Given the description of an element on the screen output the (x, y) to click on. 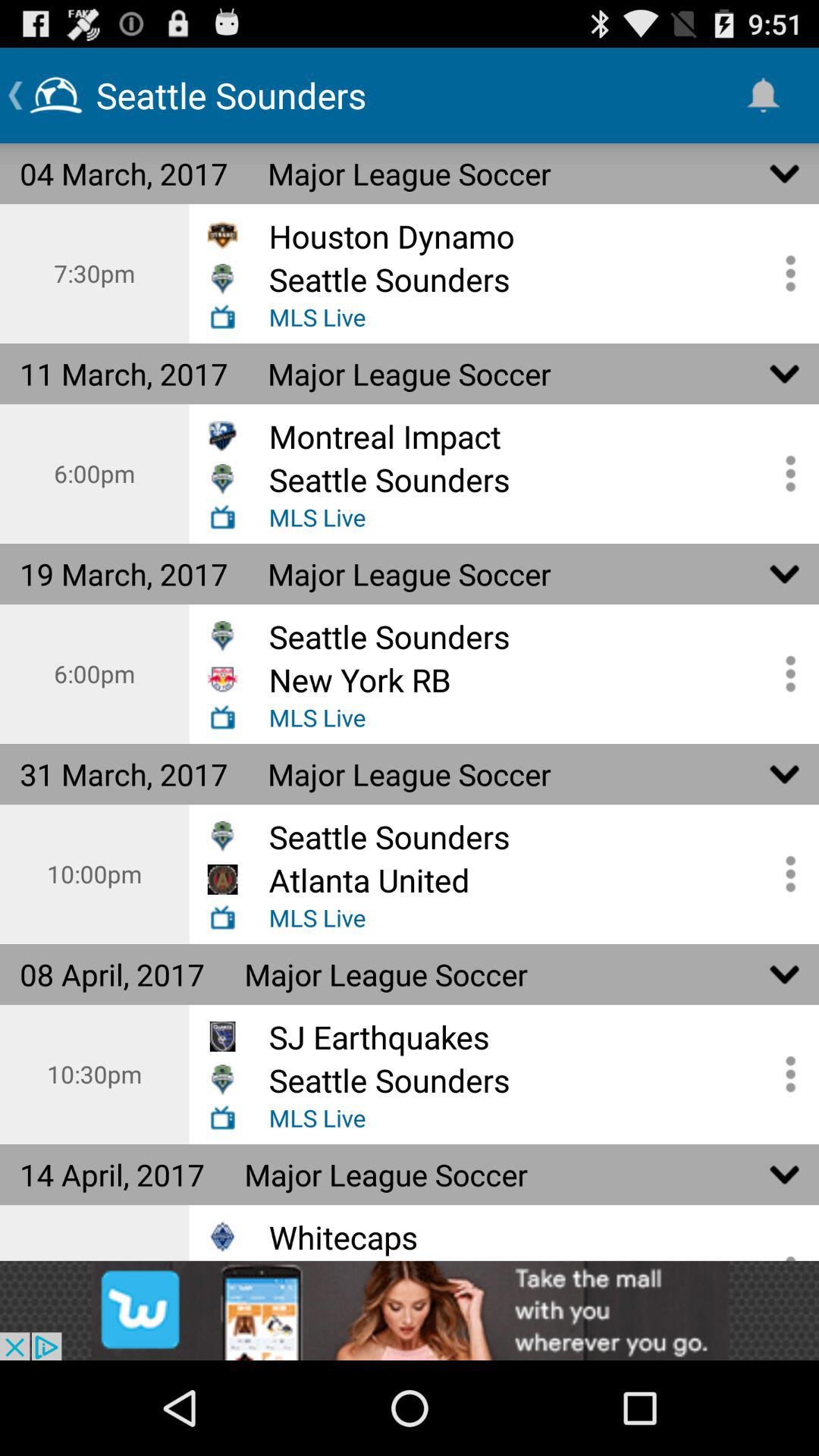
open game options (785, 473)
